Given the description of an element on the screen output the (x, y) to click on. 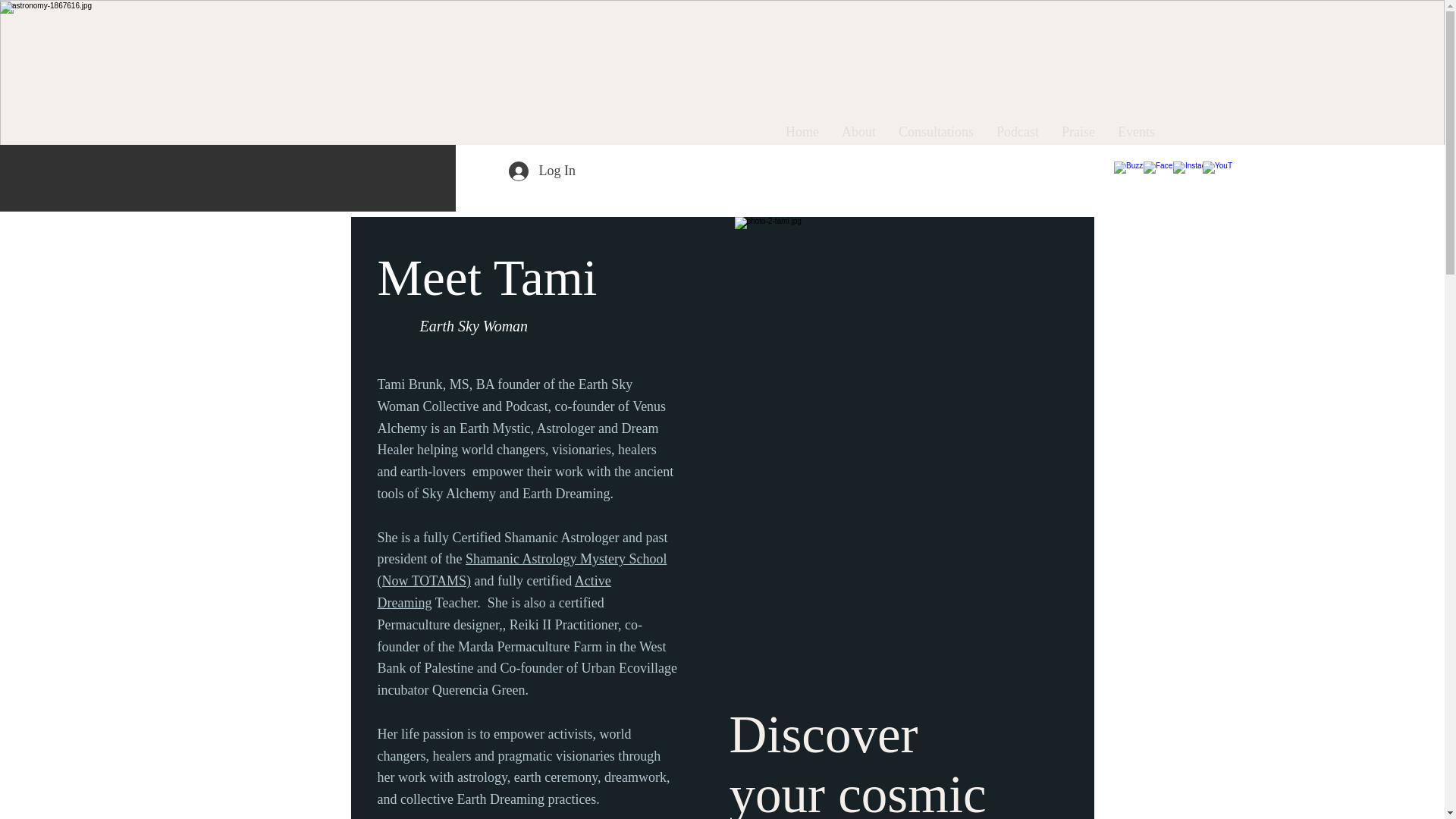
Podcast (1017, 131)
Praise (1077, 131)
Log In (541, 170)
About (857, 131)
Discover (952, 664)
Home (801, 131)
Events (1136, 131)
Consultations (935, 131)
Active Dreaming (494, 591)
